Given the description of an element on the screen output the (x, y) to click on. 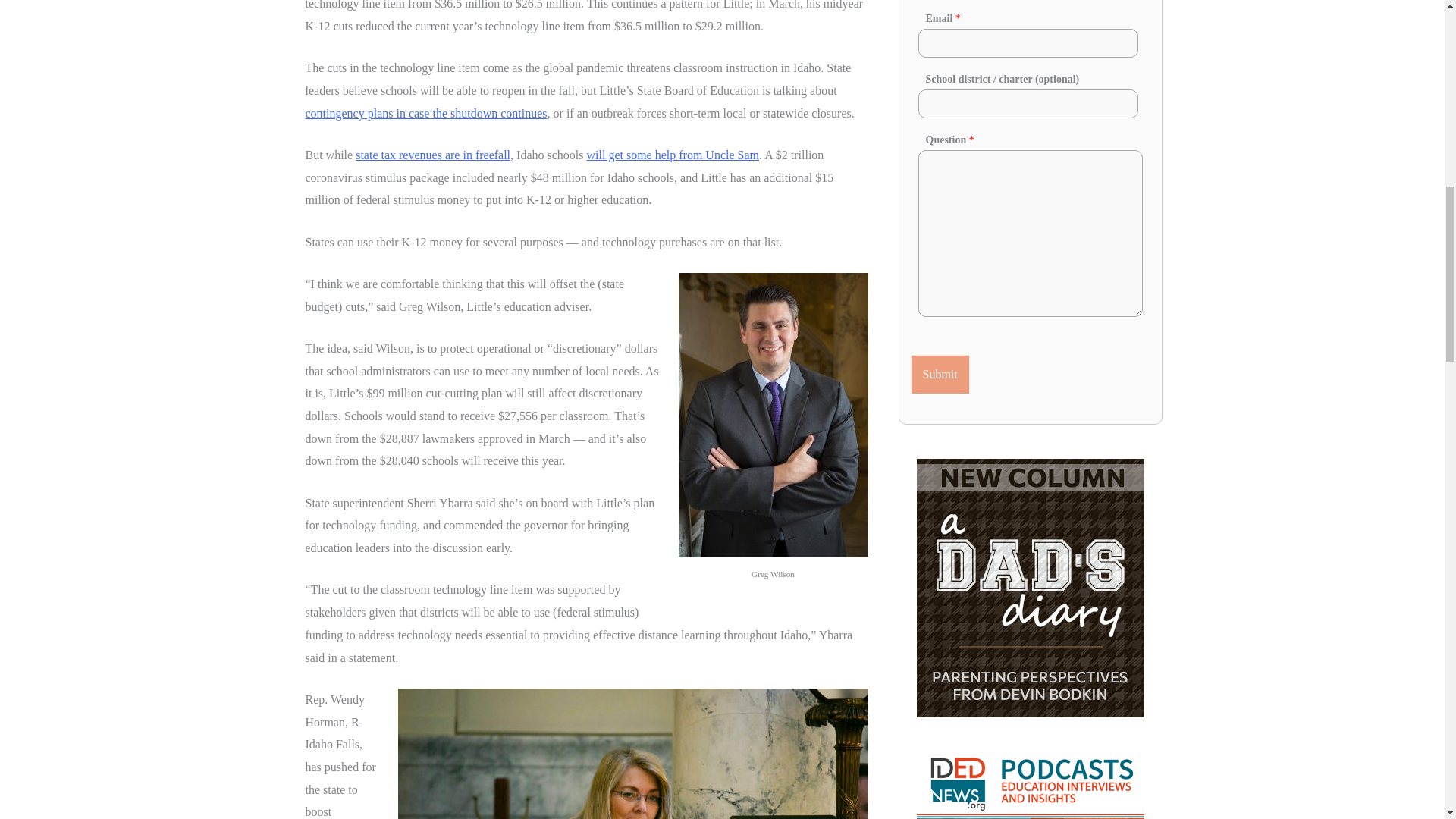
will get some help from Uncle Sam (673, 154)
Submit (939, 373)
contingency plans in case the shutdown continues (425, 113)
state tax revenues are in freefall (433, 154)
